Given the description of an element on the screen output the (x, y) to click on. 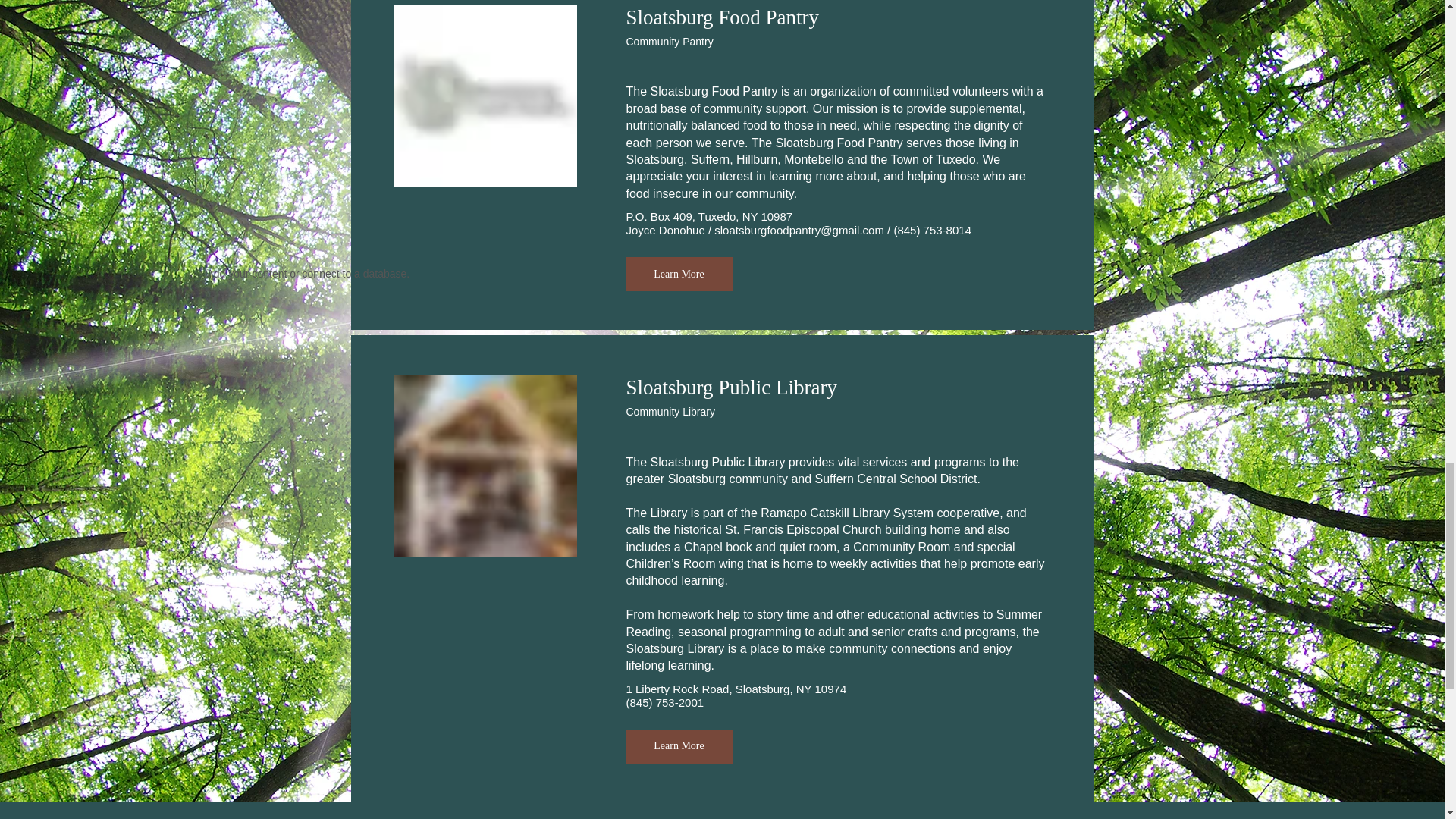
Learn More (679, 746)
Learn More (679, 274)
